Given the description of an element on the screen output the (x, y) to click on. 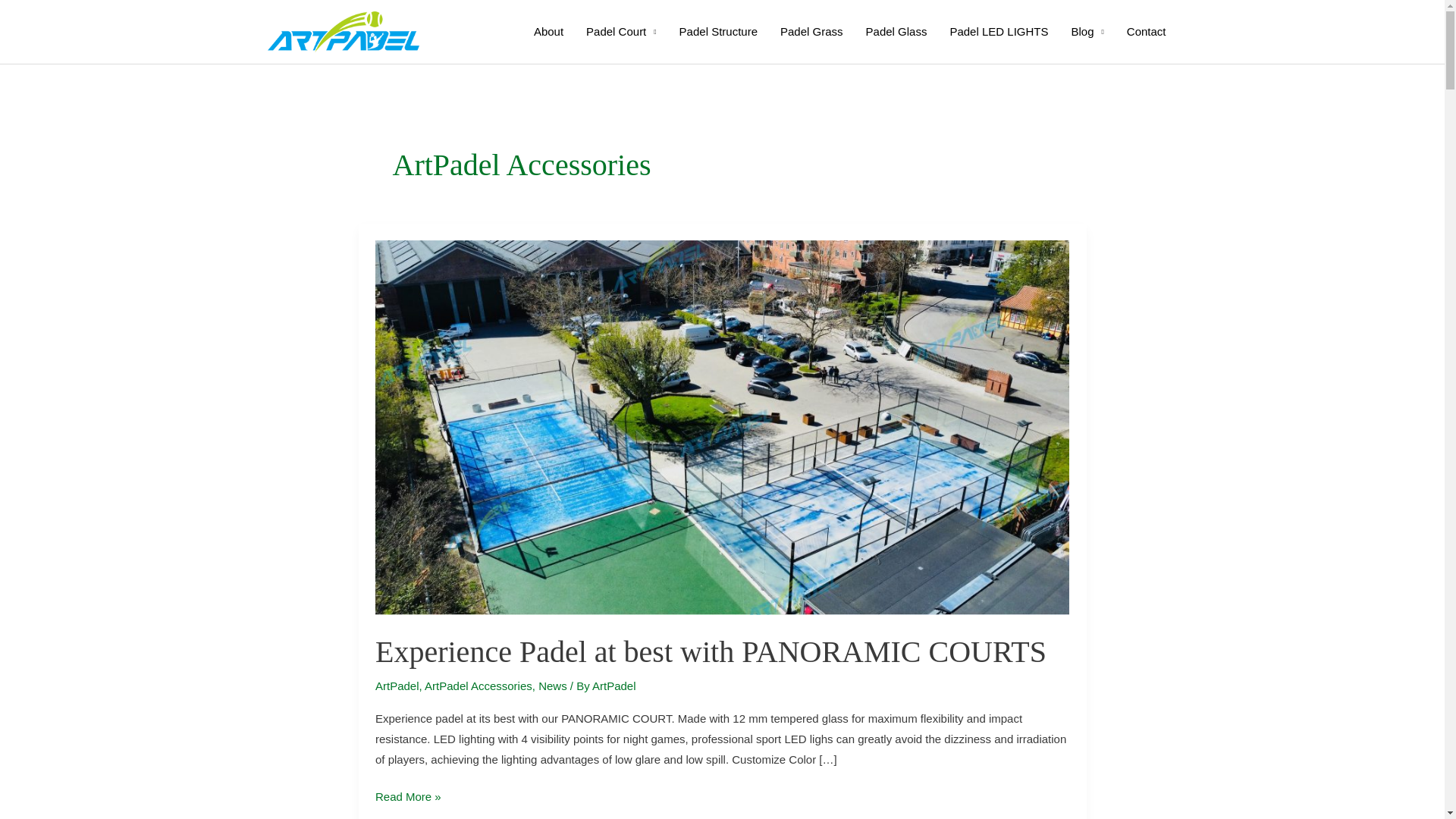
Experience Padel at best with PANORAMIC COURTS (710, 651)
ArtPadel (614, 685)
Padel Court (621, 31)
News (552, 685)
Padel Grass (811, 31)
ArtPadel (397, 685)
ArtPadel Accessories (478, 685)
Padel Glass (896, 31)
Blog (1087, 31)
View all posts by ArtPadel (614, 685)
Padel LED LIGHTS (998, 31)
About (548, 31)
Contact (1146, 31)
Padel Structure (718, 31)
